Given the description of an element on the screen output the (x, y) to click on. 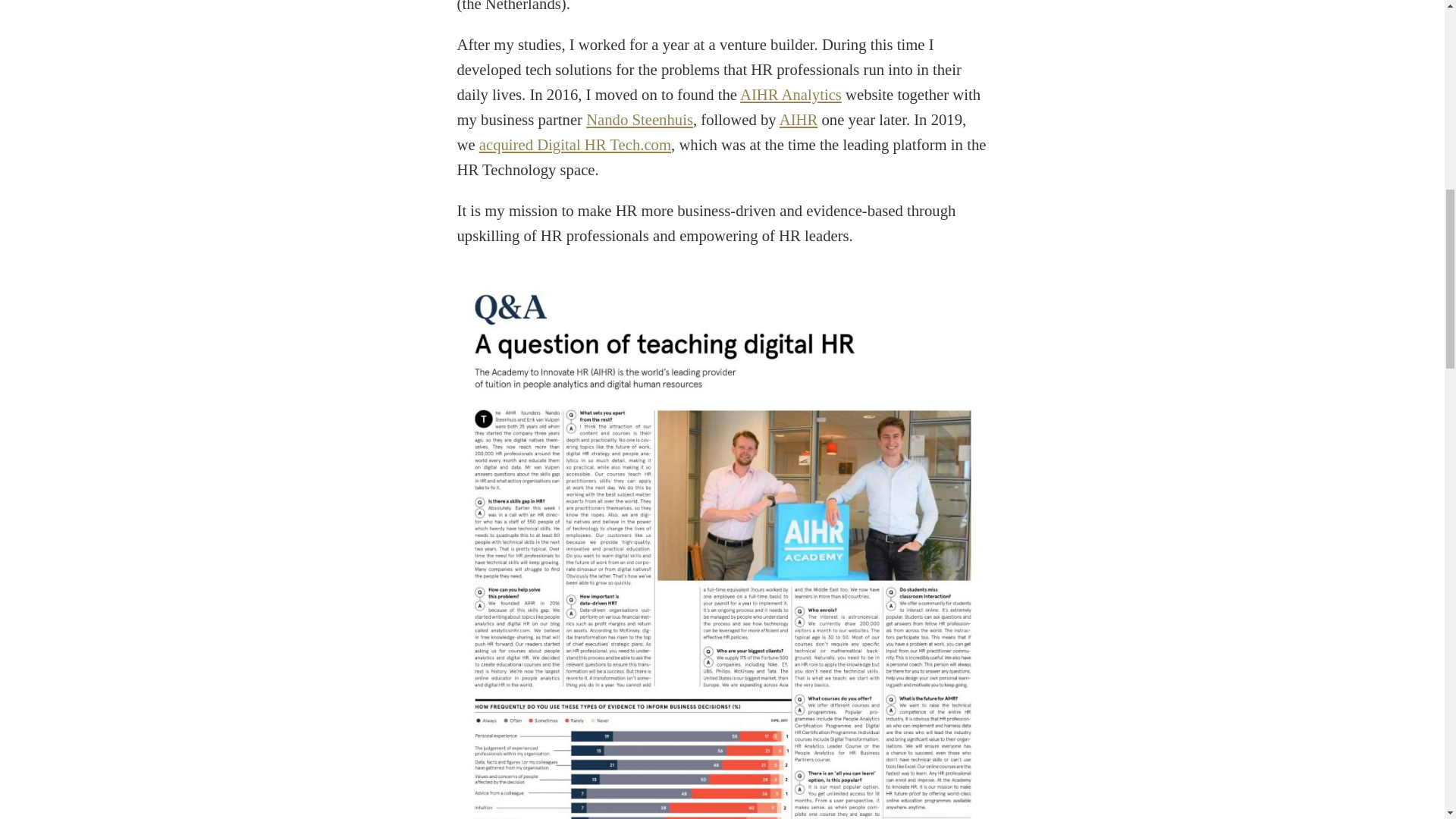
Nando Steenhuis (639, 119)
AIHR Analytics (790, 94)
AIHR (798, 119)
acquired Digital HR Tech.com (575, 144)
